Given the description of an element on the screen output the (x, y) to click on. 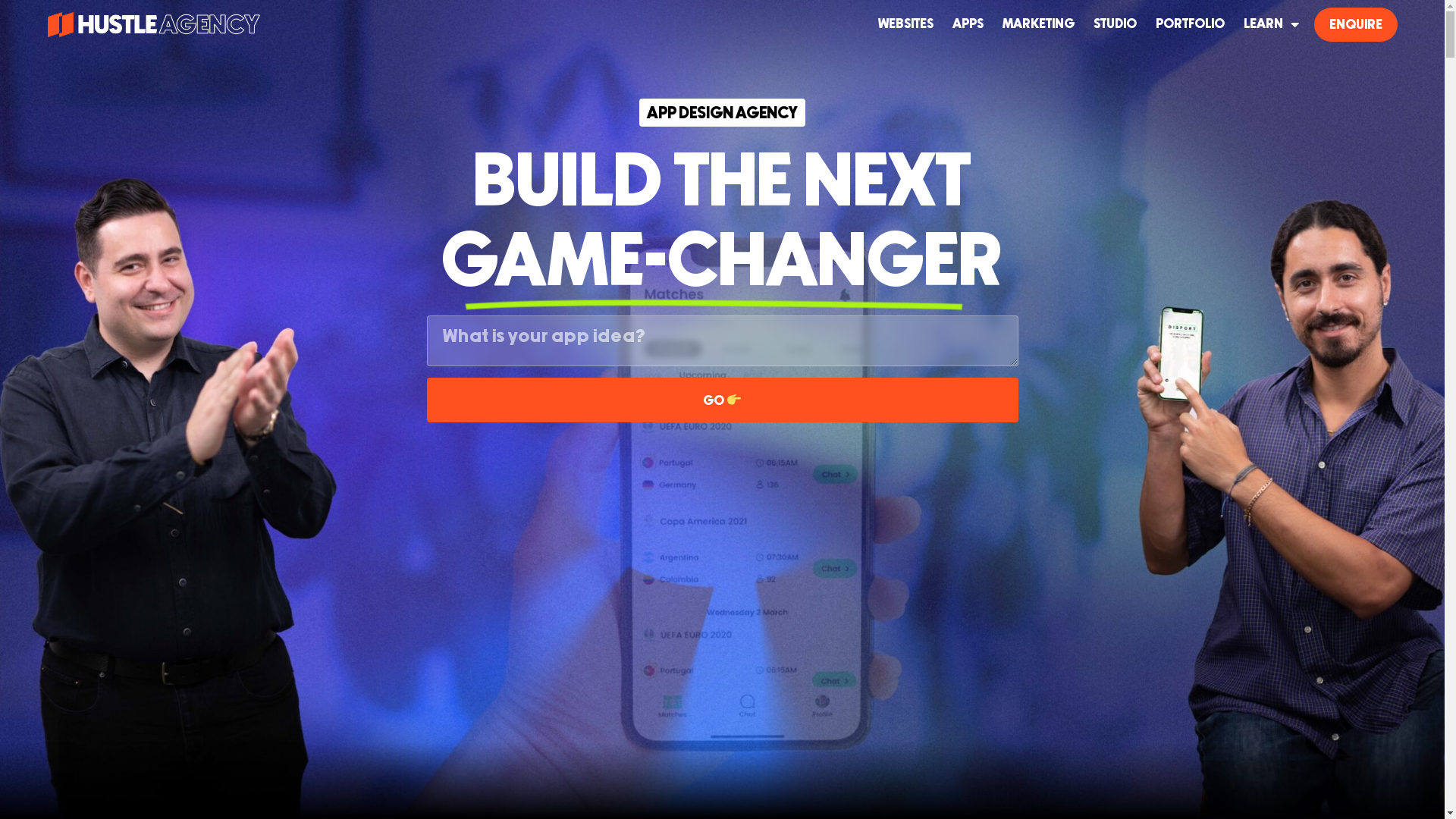
GO Element type: text (721, 399)
LEARN Element type: text (1271, 23)
ENQUIRE Element type: text (1354, 24)
WEBSITES Element type: text (905, 23)
PORTFOLIO Element type: text (1189, 23)
STUDIO Element type: text (1114, 23)
APPS Element type: text (967, 23)
MARKETING Element type: text (1038, 23)
